Given the description of an element on the screen output the (x, y) to click on. 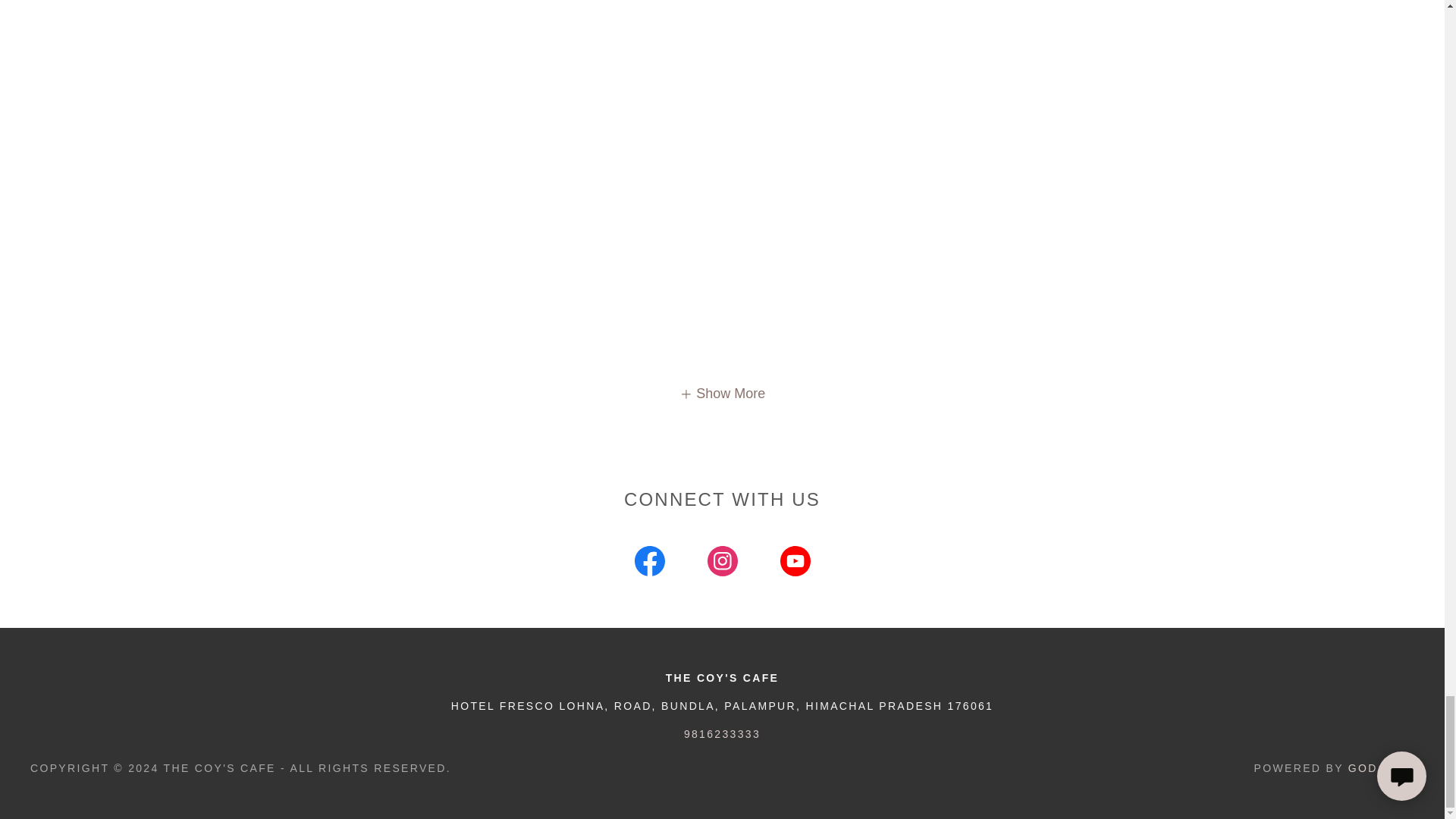
GODADDY (1380, 767)
Show More (722, 393)
9816233333 (722, 734)
